Given the description of an element on the screen output the (x, y) to click on. 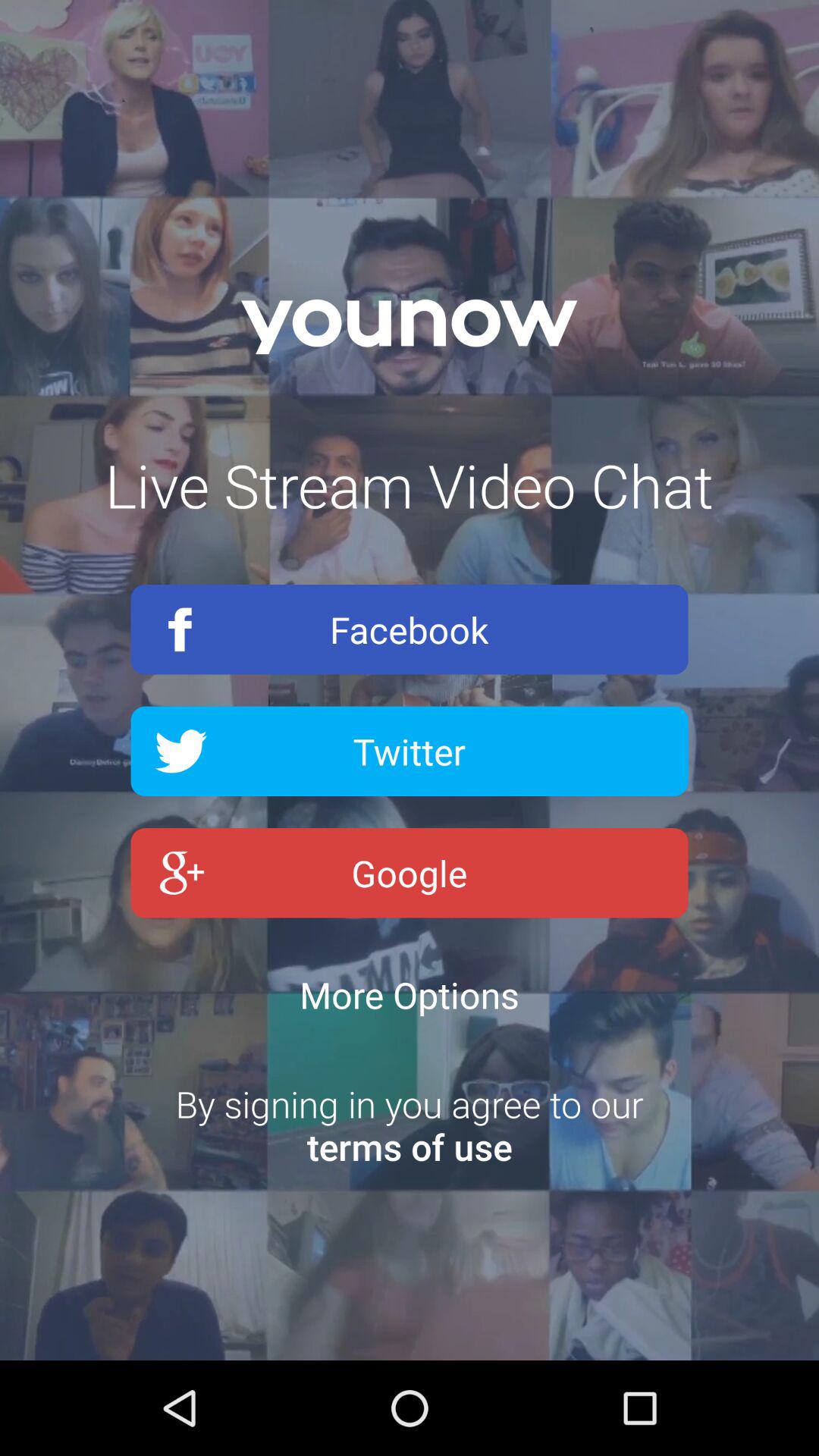
log in with facebook (409, 629)
